Given the description of an element on the screen output the (x, y) to click on. 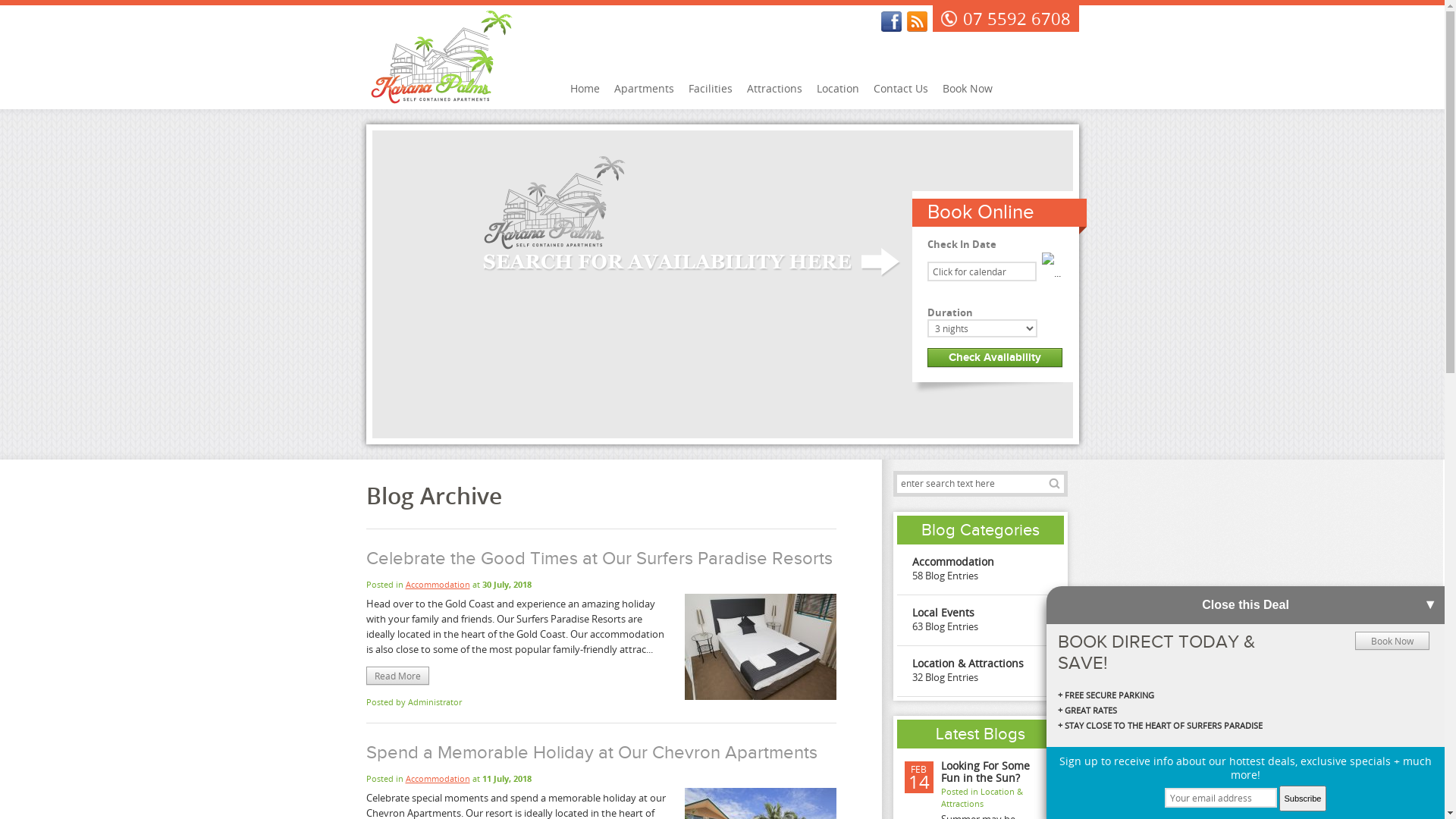
Accommodation Element type: text (436, 583)
Looking For Some Fun in the Sun? Element type: text (984, 771)
Home Element type: text (583, 88)
Spend a Memorable Holiday at Our Chevron Apartments Element type: text (590, 752)
Accommodation Element type: text (952, 561)
Apartments Element type: text (643, 88)
Attractions Element type: text (774, 88)
Contact Us Element type: text (900, 88)
Accommodation Element type: text (436, 778)
... Element type: hover (1050, 272)
Local Events Element type: text (942, 612)
Book Now Element type: text (967, 88)
Book Now Element type: text (1392, 640)
Facilities Element type: text (709, 88)
Read More Element type: text (396, 675)
Check Availability Element type: text (993, 357)
Location Element type: text (837, 88)
Karana Palms 021 Element type: hover (759, 646)
Subscribe Element type: text (1303, 798)
Close this Deal Element type: text (1245, 605)
Celebrate the Good Times at Our Surfers Paradise Resorts Element type: text (598, 558)
Location & Attractions Element type: text (966, 662)
